Given the description of an element on the screen output the (x, y) to click on. 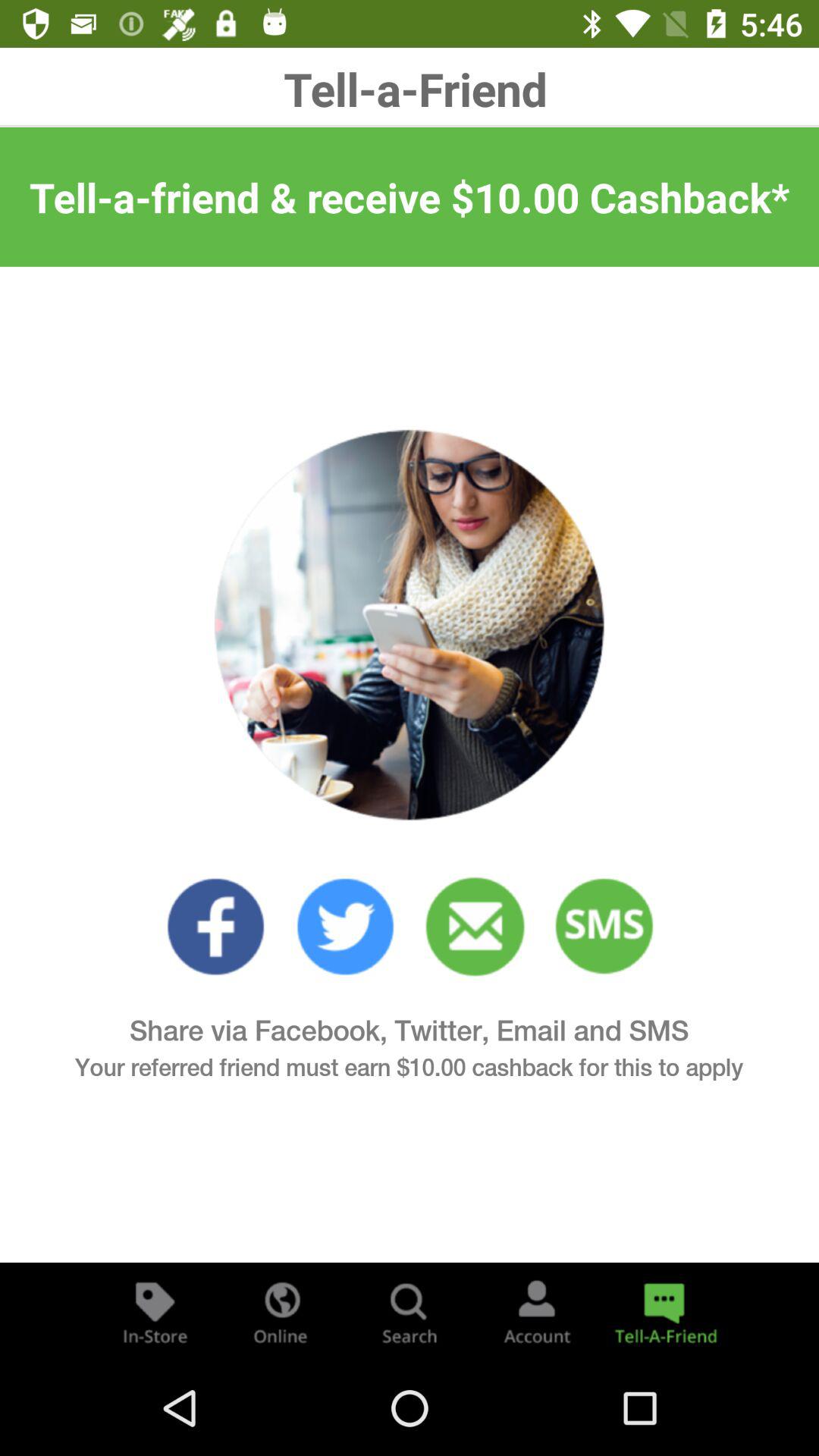
share through sms (604, 926)
